Given the description of an element on the screen output the (x, y) to click on. 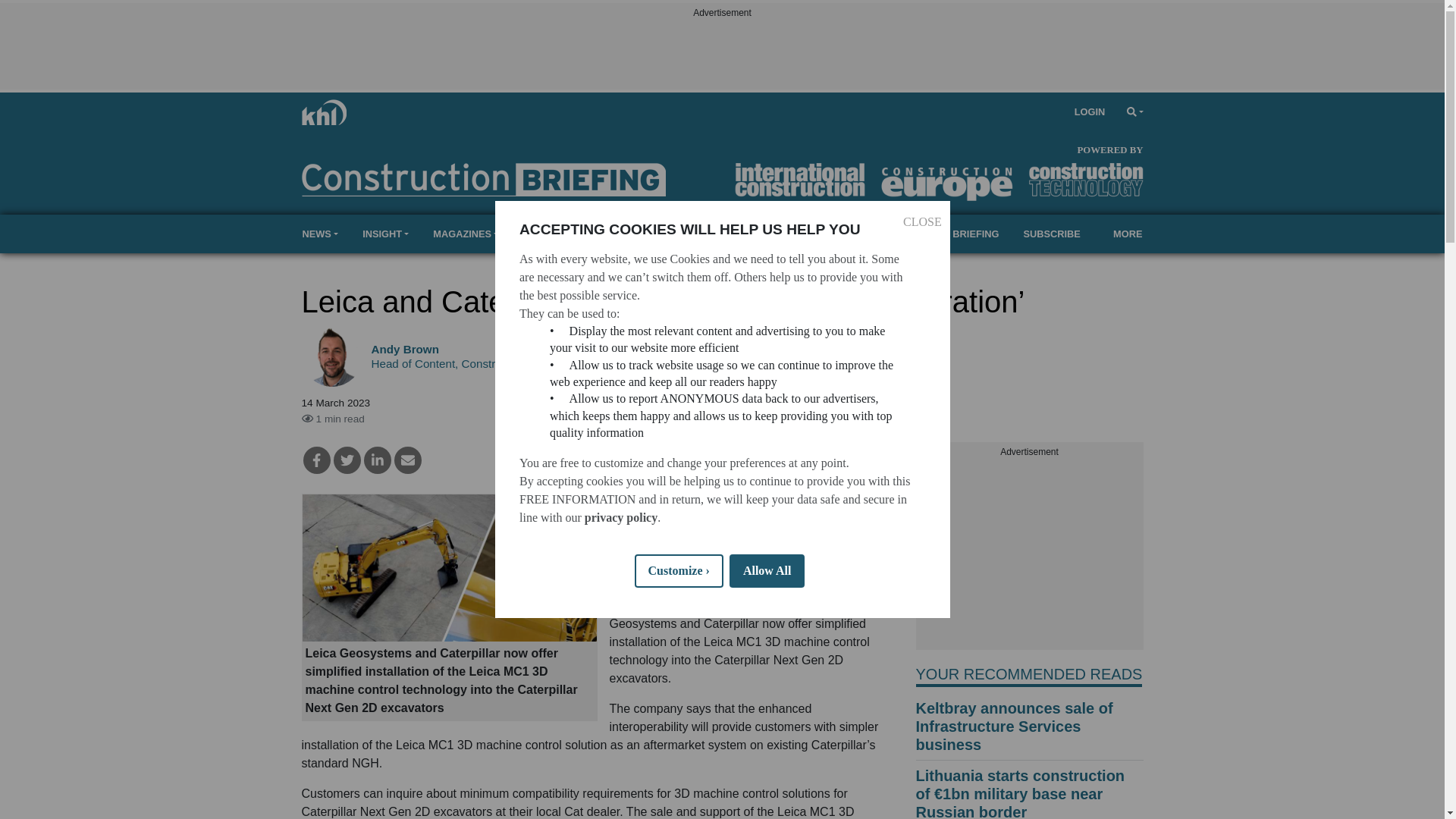
Share this page via email (408, 460)
3rd party ad content (721, 55)
Share this page on Linkedin (377, 460)
3rd party ad content (1028, 555)
Share this page on Facebook (316, 460)
Share this page on Twitter (347, 460)
